Given the description of an element on the screen output the (x, y) to click on. 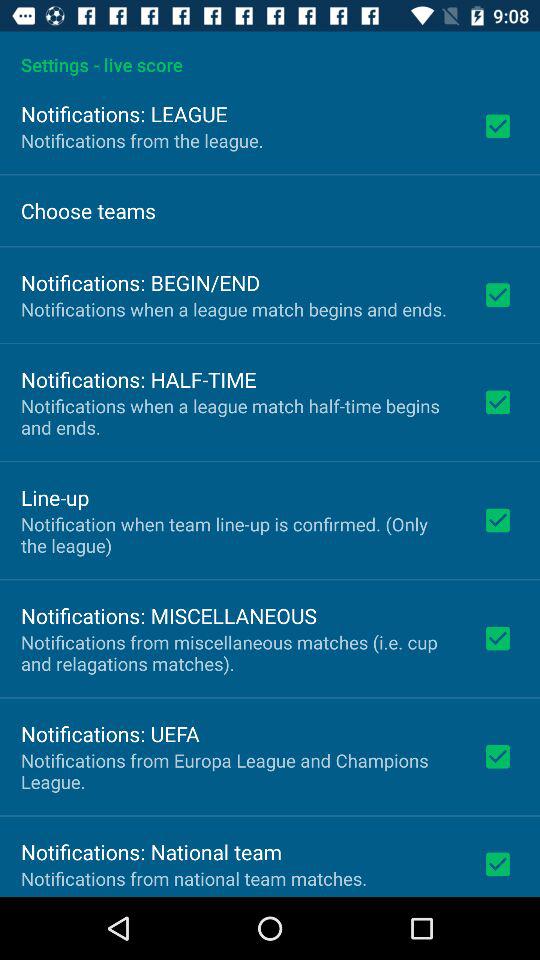
choose the app below line-up icon (238, 534)
